Given the description of an element on the screen output the (x, y) to click on. 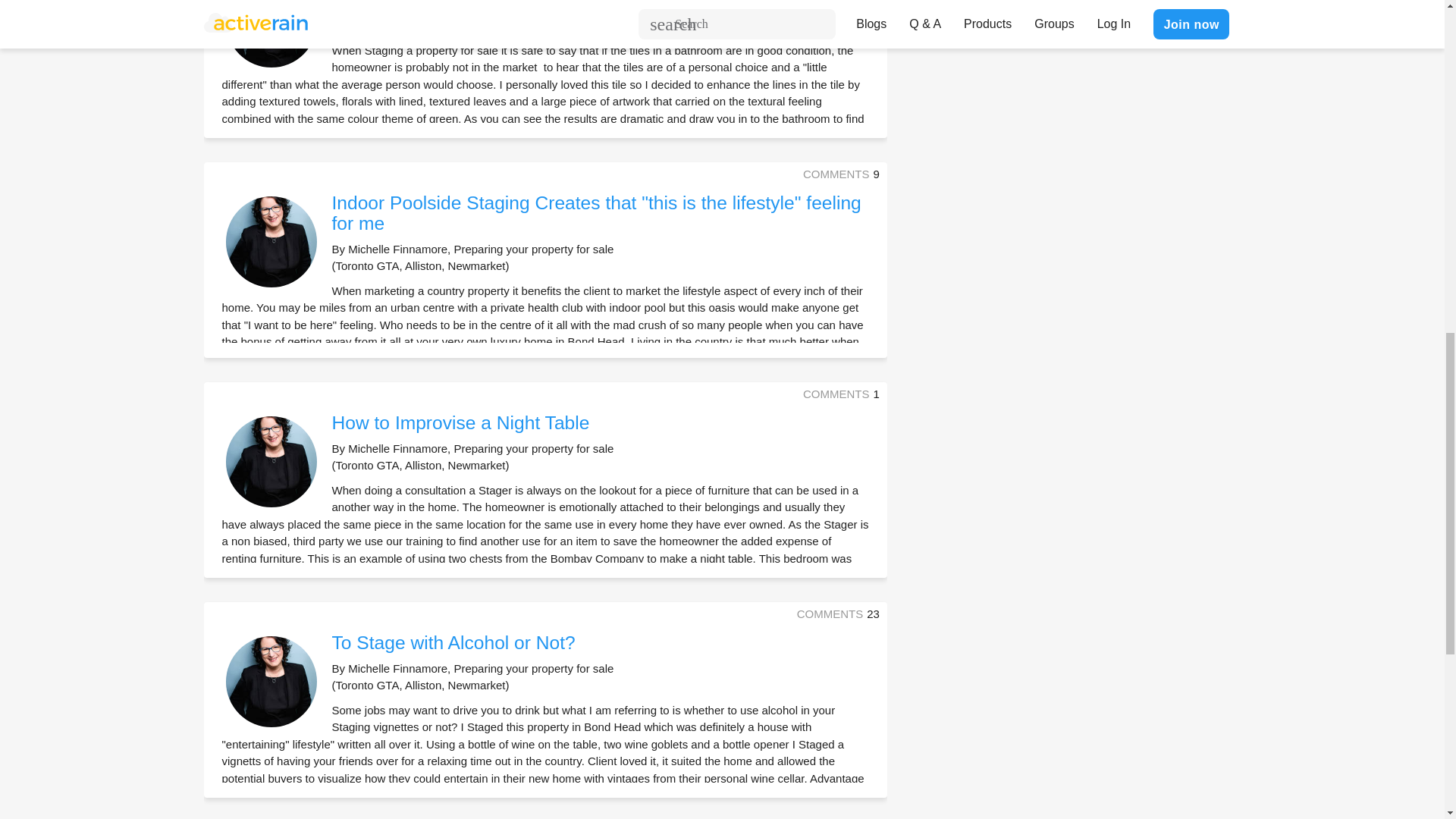
How to Improvise a Night Table (460, 422)
To Stage with Alcohol or Not? (453, 642)
